Given the description of an element on the screen output the (x, y) to click on. 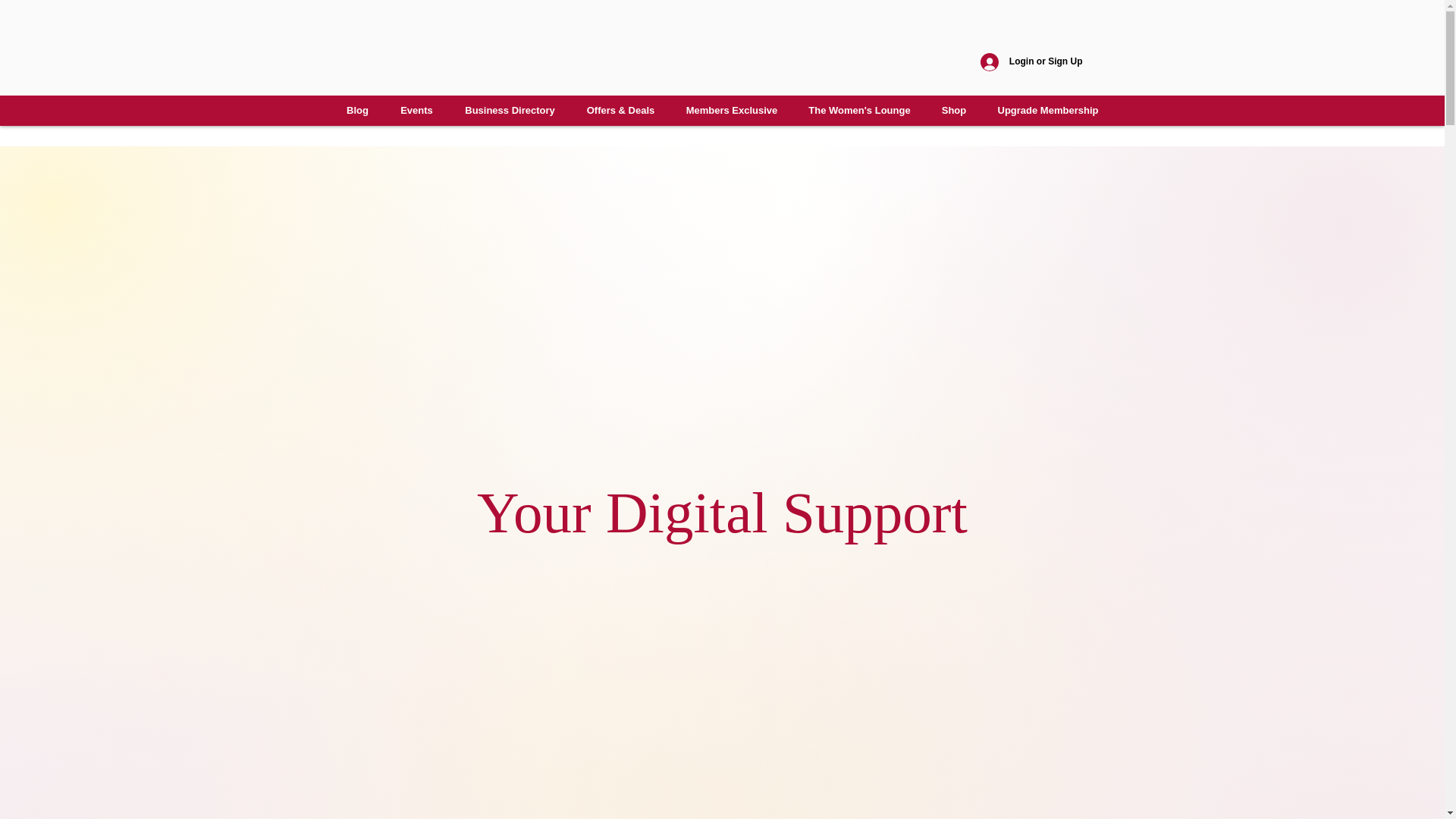
Shop (952, 110)
Blog (357, 110)
Business Directory (509, 110)
Events (416, 110)
Login or Sign Up (1031, 62)
Upgrade Membership (1047, 110)
The Women's Lounge (859, 110)
